Given the description of an element on the screen output the (x, y) to click on. 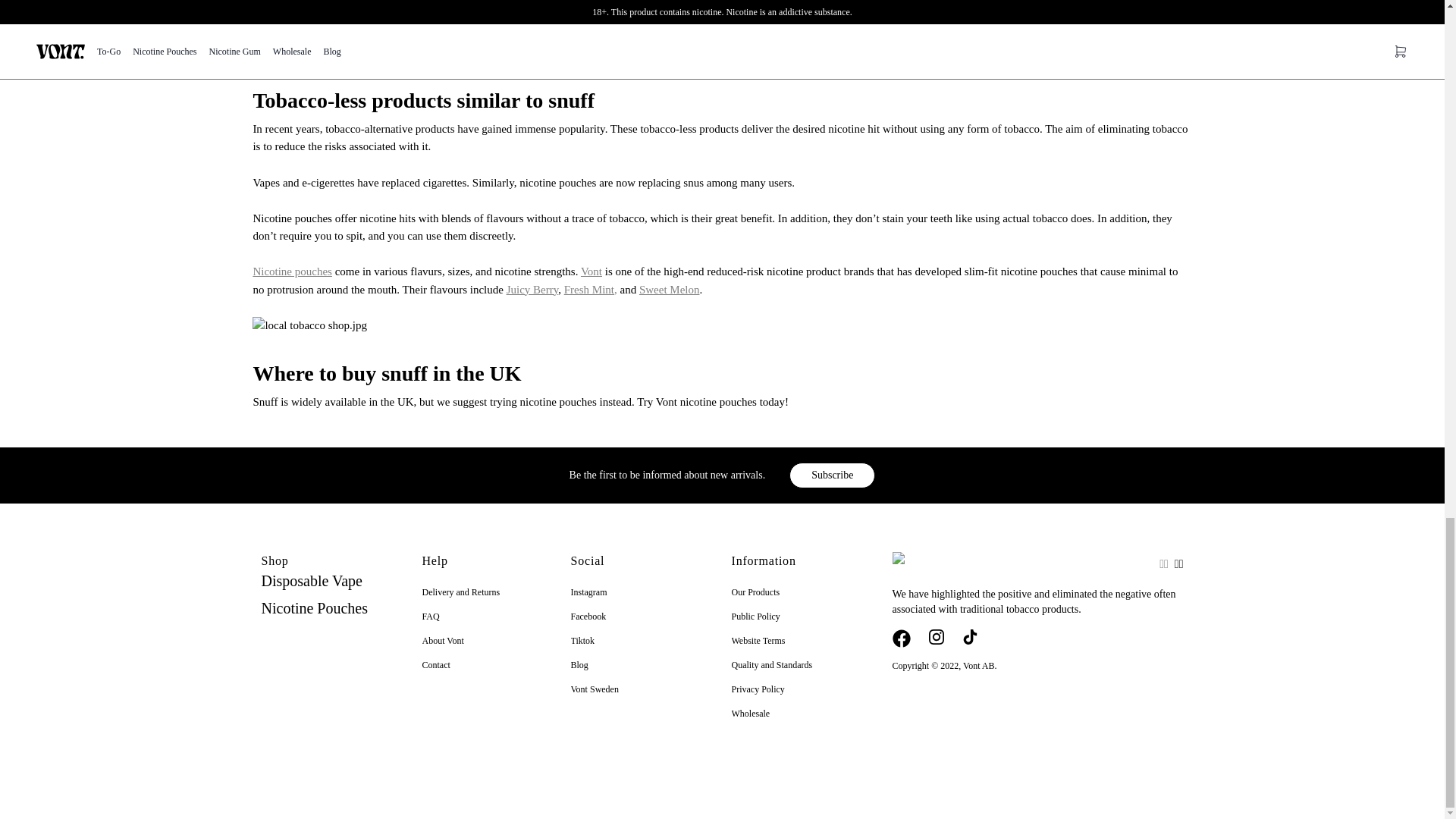
Juicy Berry (532, 288)
Social (587, 561)
Subscribe (832, 475)
Sweet Melon (669, 288)
Help (434, 561)
Shop (274, 561)
Disposable Vape (311, 581)
Nicotine pouches (291, 271)
Vont (591, 271)
Delivery and Returns (460, 590)
